Given the description of an element on the screen output the (x, y) to click on. 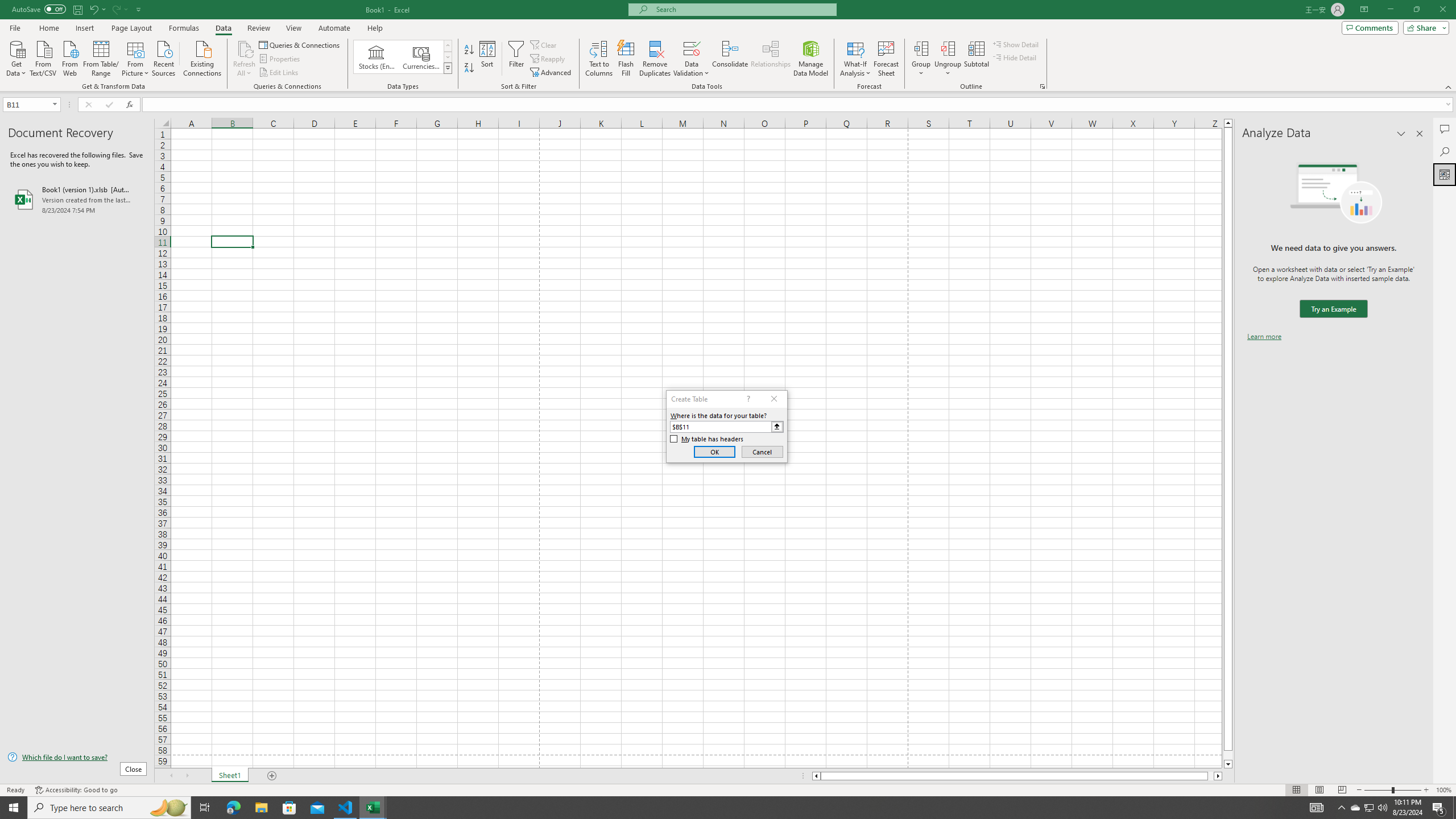
Search (1444, 151)
Flash Fill (625, 58)
Recent Sources (163, 57)
Sort... (487, 58)
Data Types (448, 67)
Queries & Connections (300, 44)
Hide Detail (1014, 56)
